Given the description of an element on the screen output the (x, y) to click on. 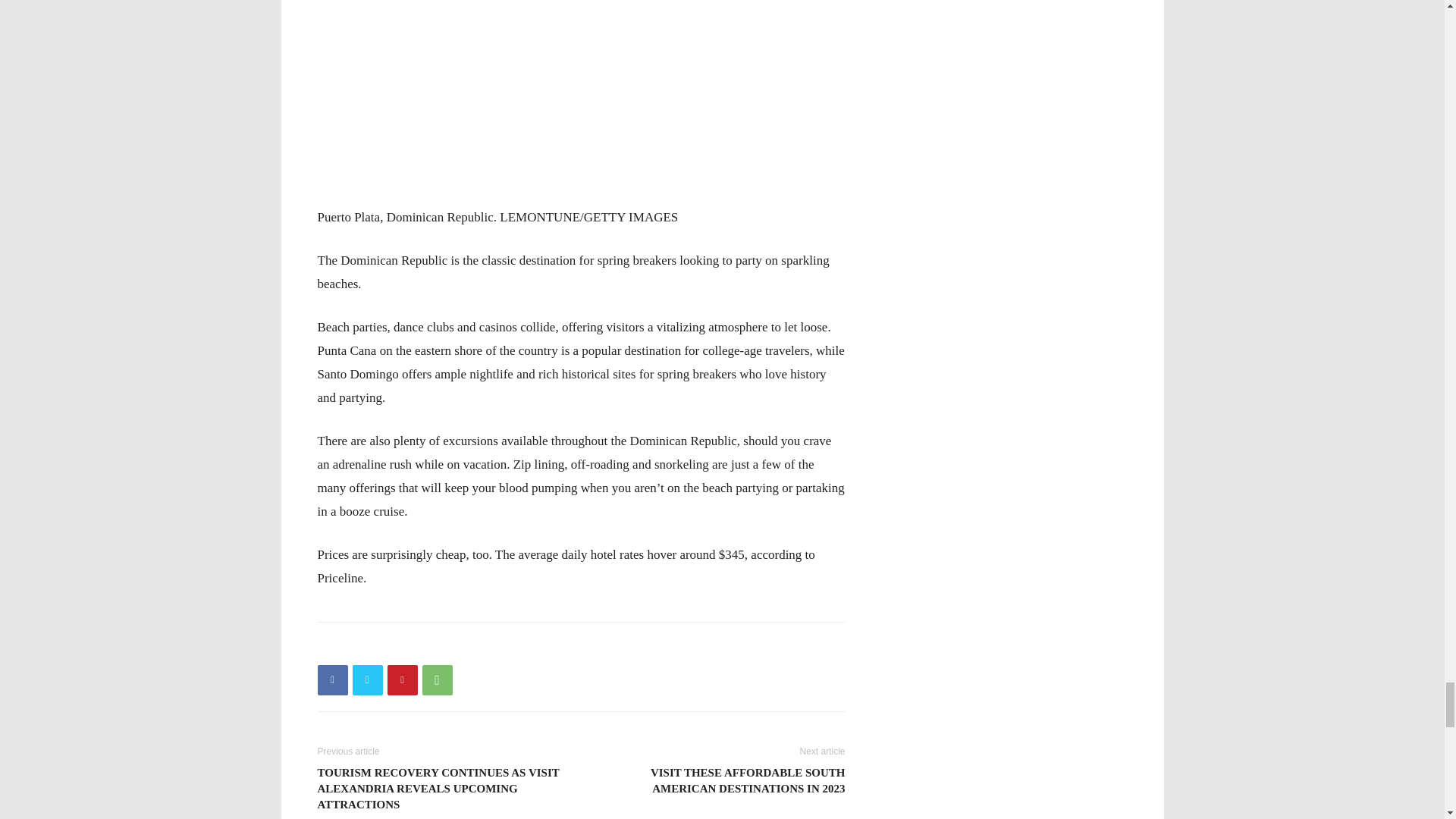
Pinterest (401, 680)
WhatsApp (436, 680)
Facebook (332, 680)
bottomFacebookLike (430, 646)
Twitter (366, 680)
